Given the description of an element on the screen output the (x, y) to click on. 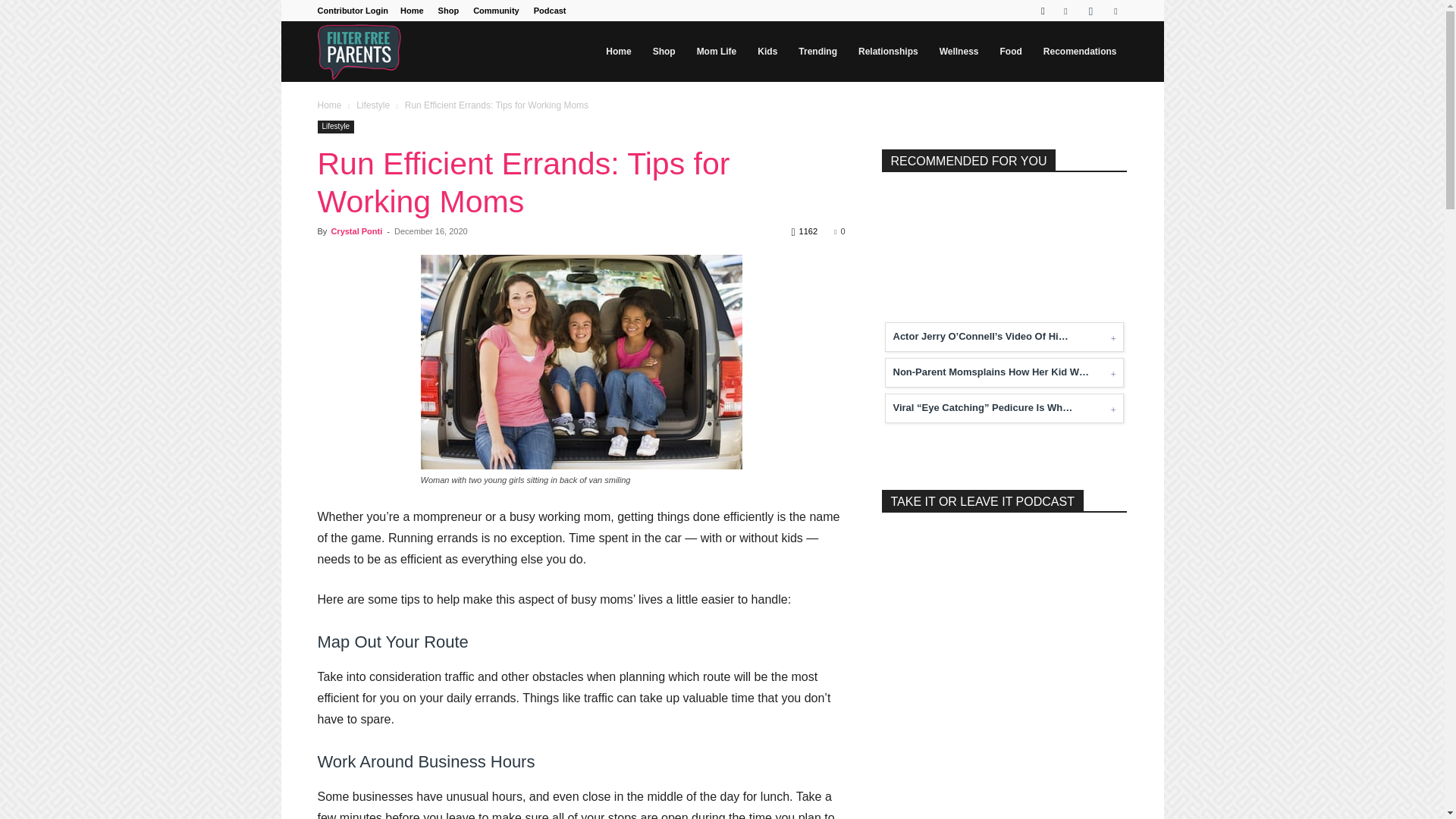
Home (411, 10)
Pinterest (1114, 10)
Contributor Login (352, 10)
Instagram (1090, 10)
Facebook (1065, 10)
